Given the description of an element on the screen output the (x, y) to click on. 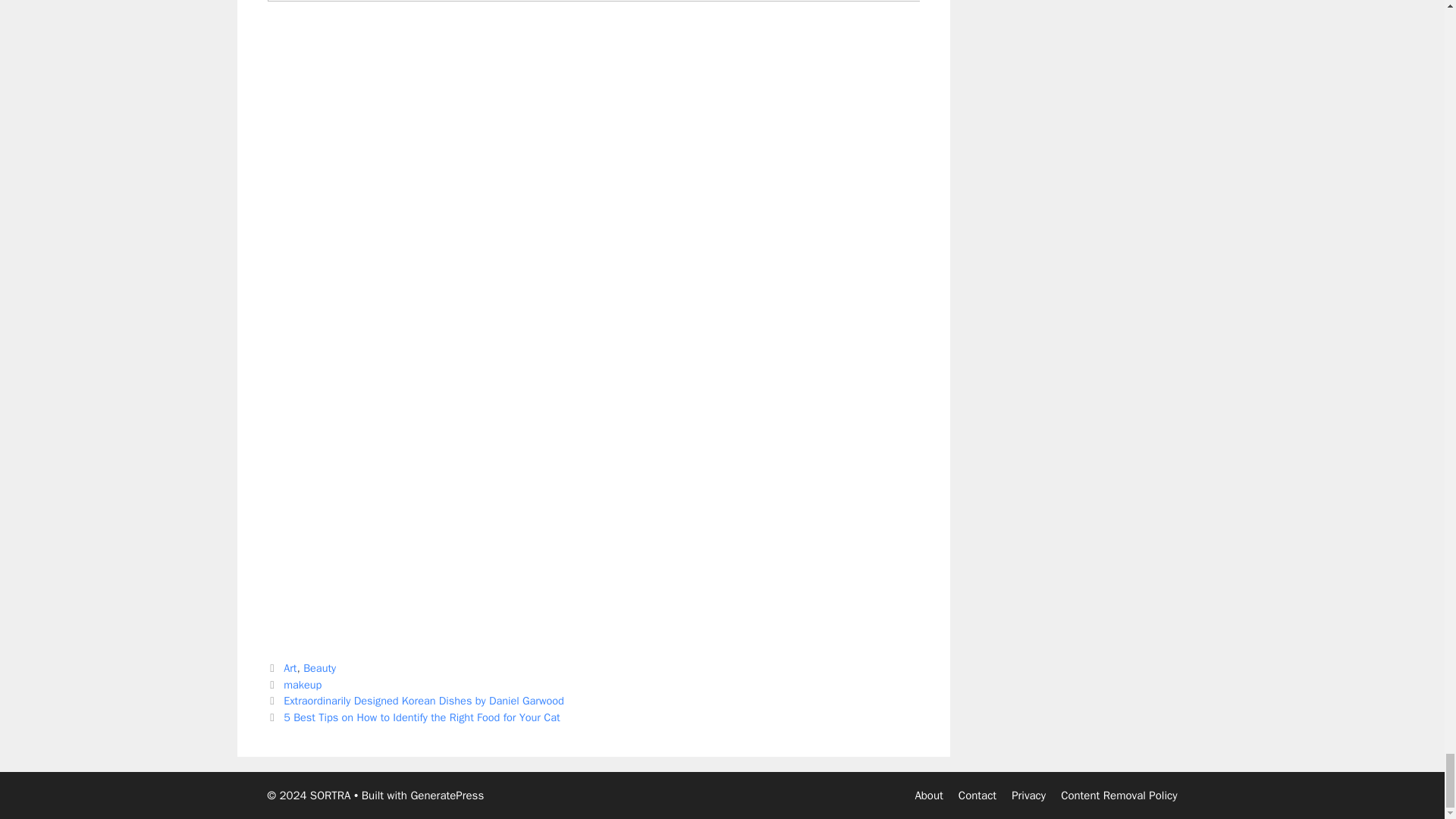
Art (290, 667)
Extraordinarily Designed Korean Dishes by Daniel Garwood (423, 700)
Beauty (319, 667)
makeup (302, 684)
Privacy (1028, 795)
5 Best Tips on How to Identify the Right Food for Your Cat (421, 716)
Contact (976, 795)
GeneratePress (446, 795)
Content Removal Policy (1118, 795)
About (928, 795)
